Given the description of an element on the screen output the (x, y) to click on. 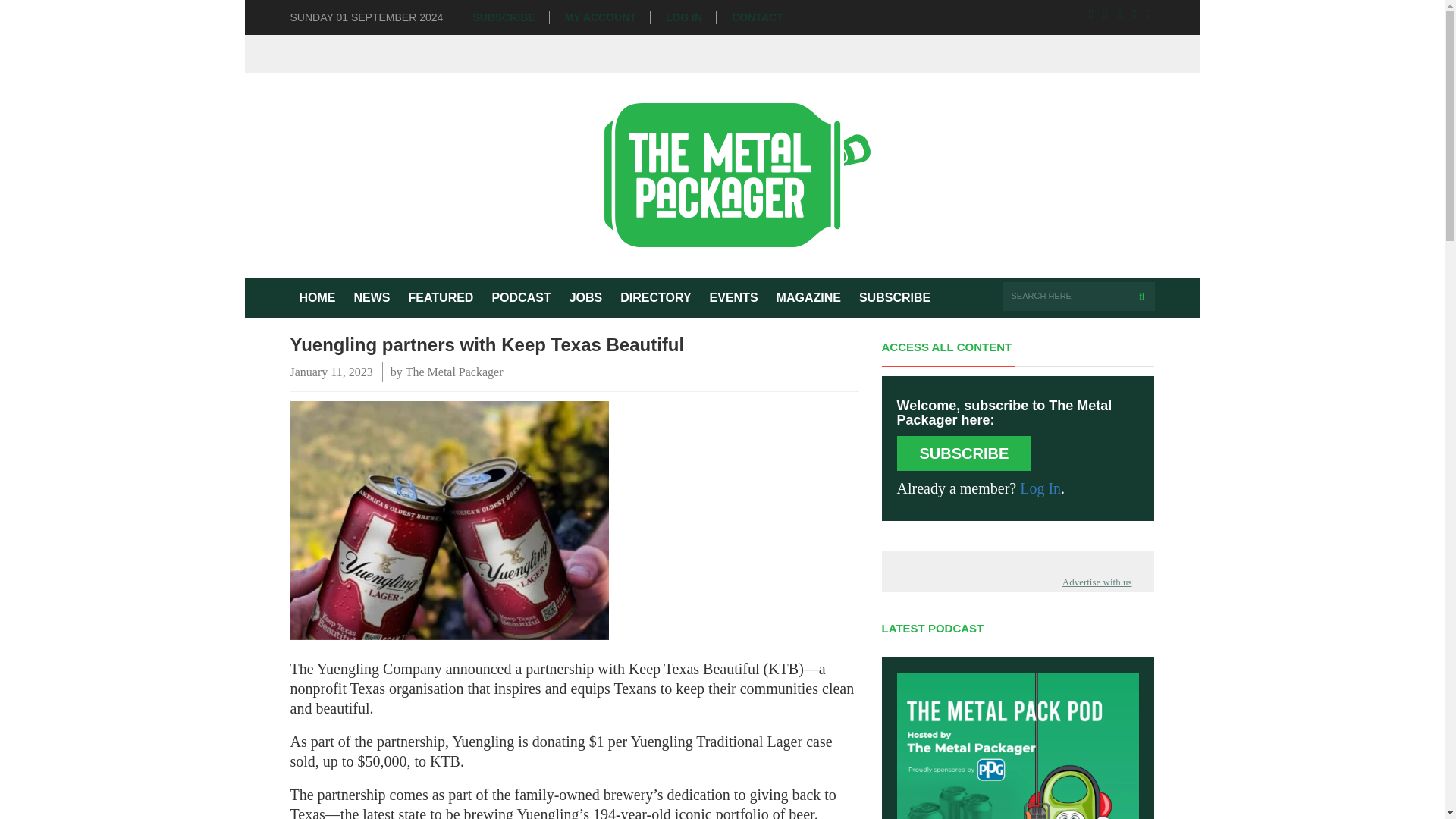
SUBSCRIBE (894, 297)
NEWS (370, 297)
Featured (439, 297)
The Metal Packager (454, 372)
FEATURED (439, 297)
DIRECTORY (655, 297)
PODCAST (520, 297)
The Metal Packager (722, 174)
MY ACCOUNT (600, 17)
Home (316, 297)
